Given the description of an element on the screen output the (x, y) to click on. 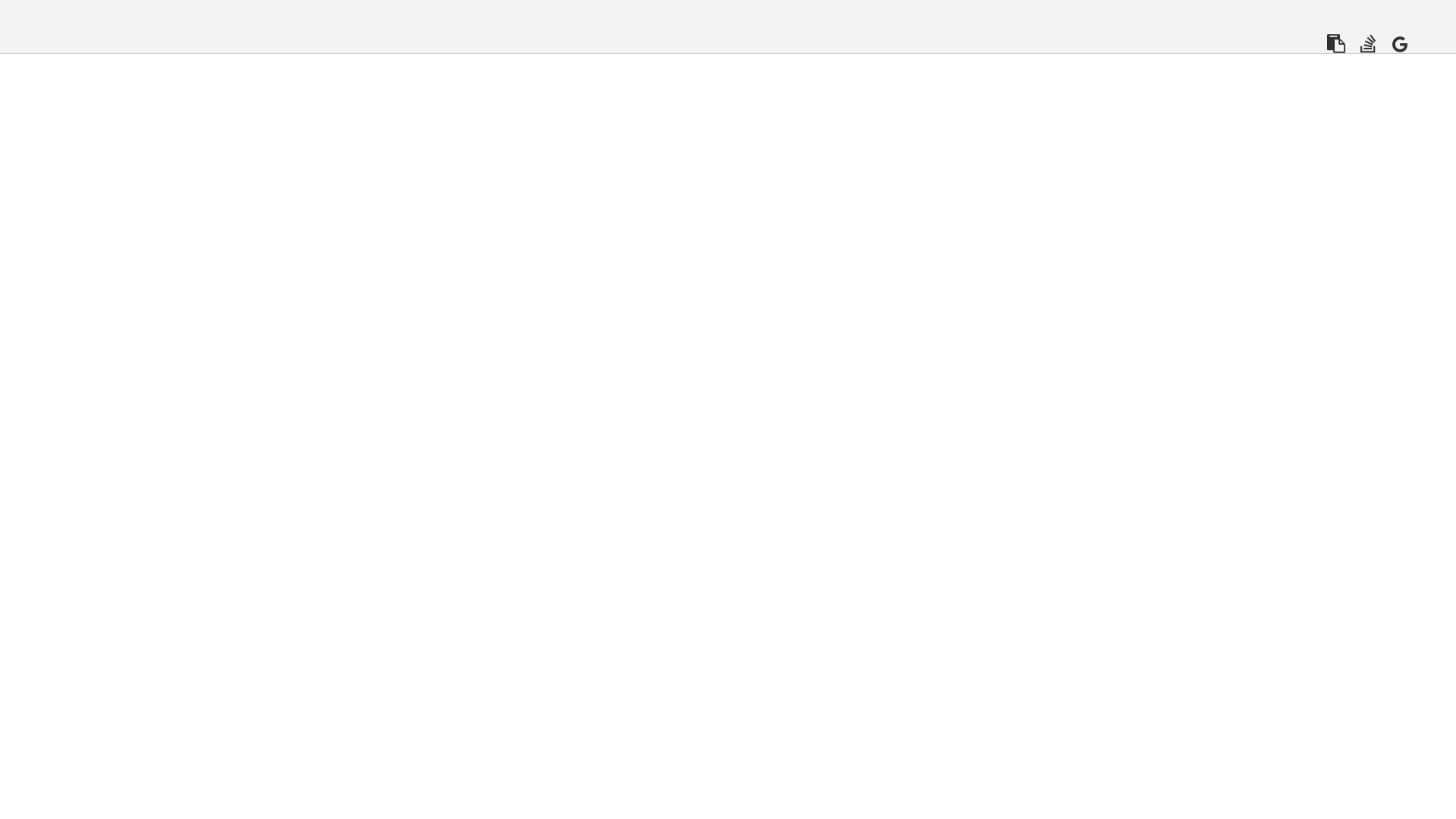
Copy the stacktrace for use in a bug report or pastebin Element type: hover (1335, 43)
Search error on Stackoverflow Element type: hover (1367, 43)
Search error on Google Element type: hover (1399, 43)
